Given the description of an element on the screen output the (x, y) to click on. 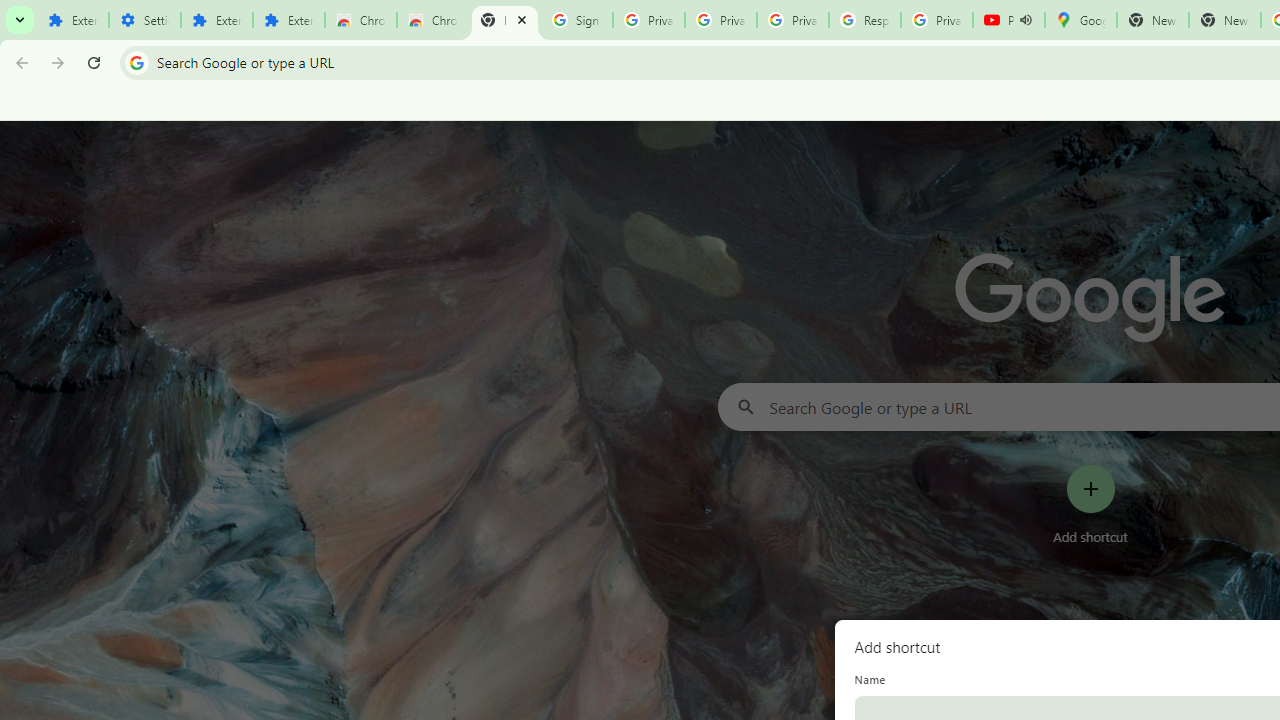
Settings (144, 20)
Chrome Web Store - Themes (432, 20)
Extensions (216, 20)
Extensions (72, 20)
Chrome Web Store (360, 20)
Extensions (289, 20)
Sign in - Google Accounts (577, 20)
Personalized AI for you | Gemini - YouTube - Audio playing (1008, 20)
Mute tab (1025, 20)
